Given the description of an element on the screen output the (x, y) to click on. 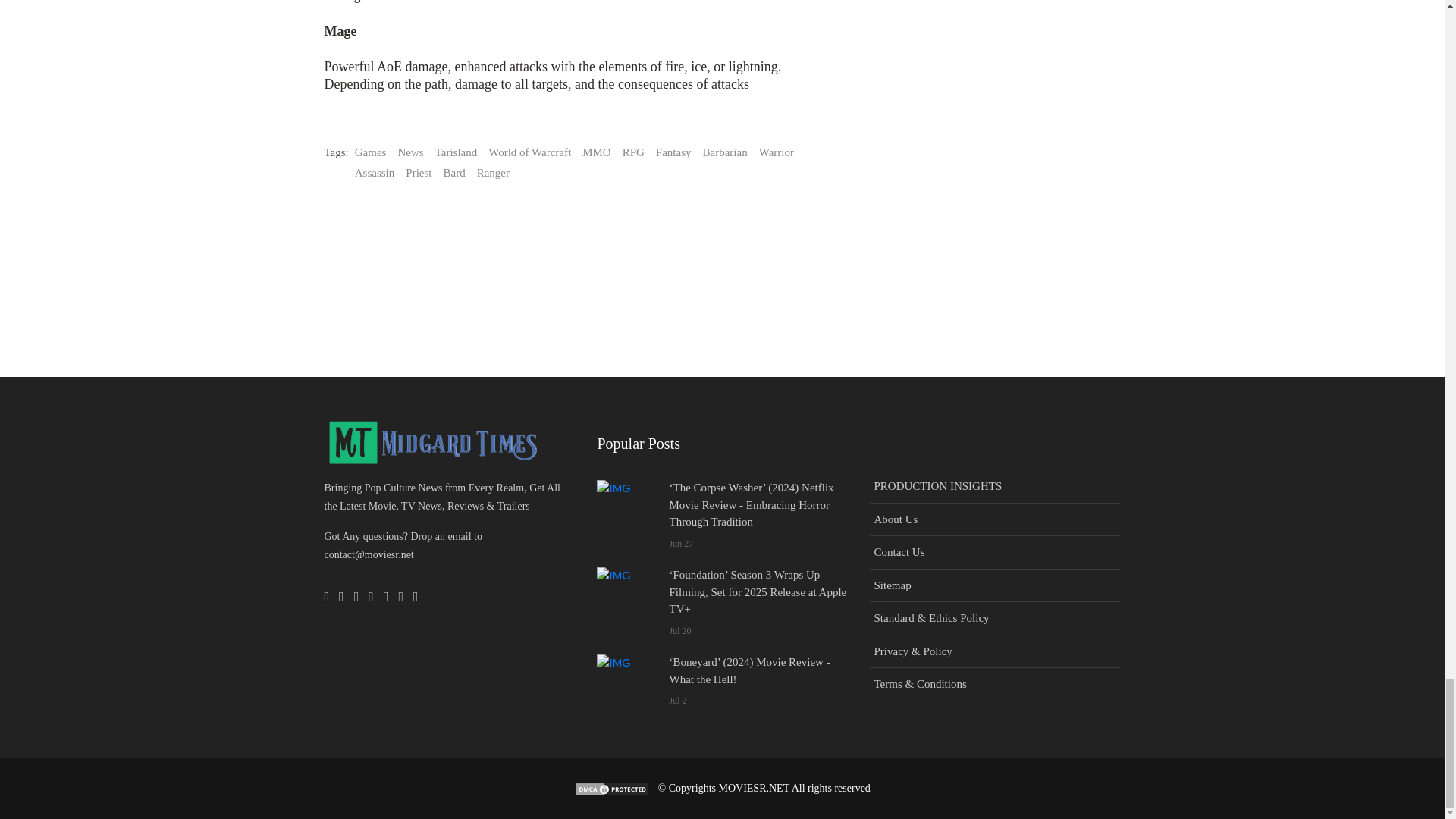
DMCA.com Protection Status (611, 787)
